Given the description of an element on the screen output the (x, y) to click on. 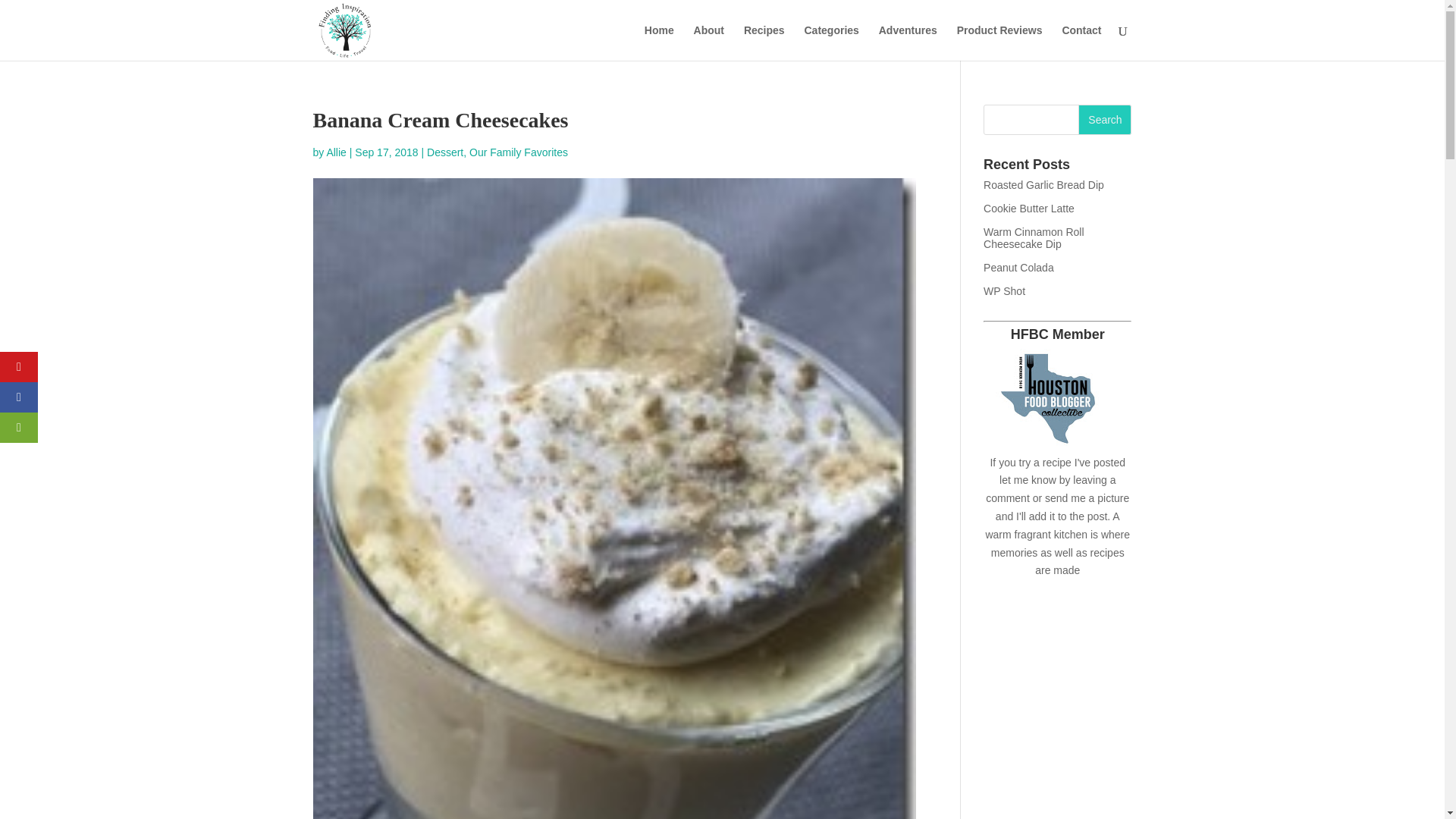
Our Family Favorites (517, 152)
Allie (336, 152)
WP Shot (1004, 291)
Contact (1080, 42)
Roasted Garlic Bread Dip (1043, 184)
Adventures (908, 42)
Search (1104, 119)
Cookie Butter Latte (1029, 208)
Product Reviews (999, 42)
Categories (831, 42)
